Given the description of an element on the screen output the (x, y) to click on. 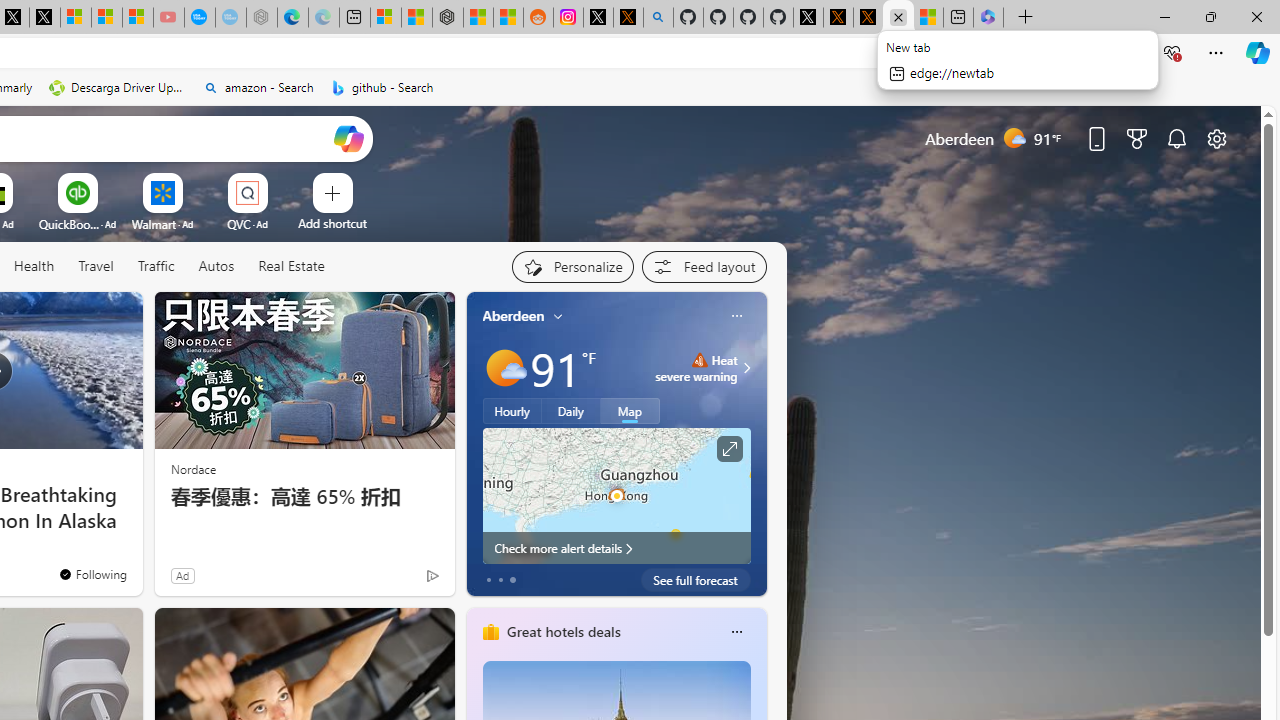
Travel (95, 265)
Travel (95, 267)
Autos (215, 265)
Ad Choice (432, 575)
hotels-header-icon (490, 632)
You're following The Weather Channel (92, 573)
Nordace - Nordace has arrived Hong Kong - Sleeping (261, 17)
Nordace - Duffels (447, 17)
Class: icon-img (736, 632)
The most popular Google 'how to' searches - Sleeping (230, 17)
Click to see more information (728, 449)
